Given the description of an element on the screen output the (x, y) to click on. 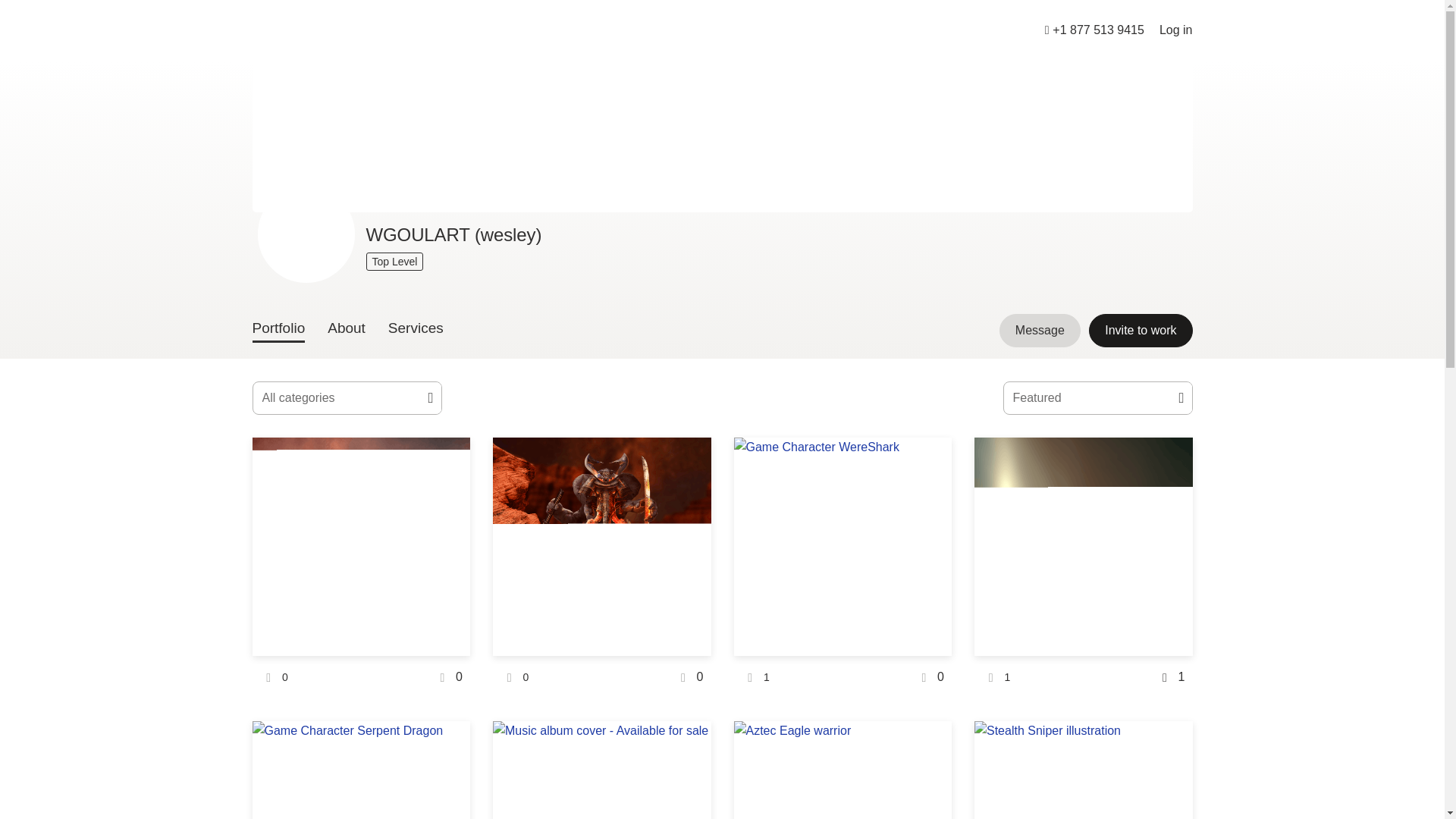
Portfolio (277, 331)
An simple loop animation from a mutant hell Hidra (360, 546)
illustration for the game Calvaria (842, 731)
Monster created for a NFT GAME (842, 447)
Monster created for a NFT GAME (360, 731)
Monster created for a NFT GAME (602, 546)
Services (416, 331)
Created inspired by the word: Absence (602, 731)
Message (1039, 330)
Monster created for a NFT GAME (1083, 546)
About (346, 331)
Invite to work (1140, 330)
99designs by Vista (296, 30)
Log in (1175, 30)
